Given the description of an element on the screen output the (x, y) to click on. 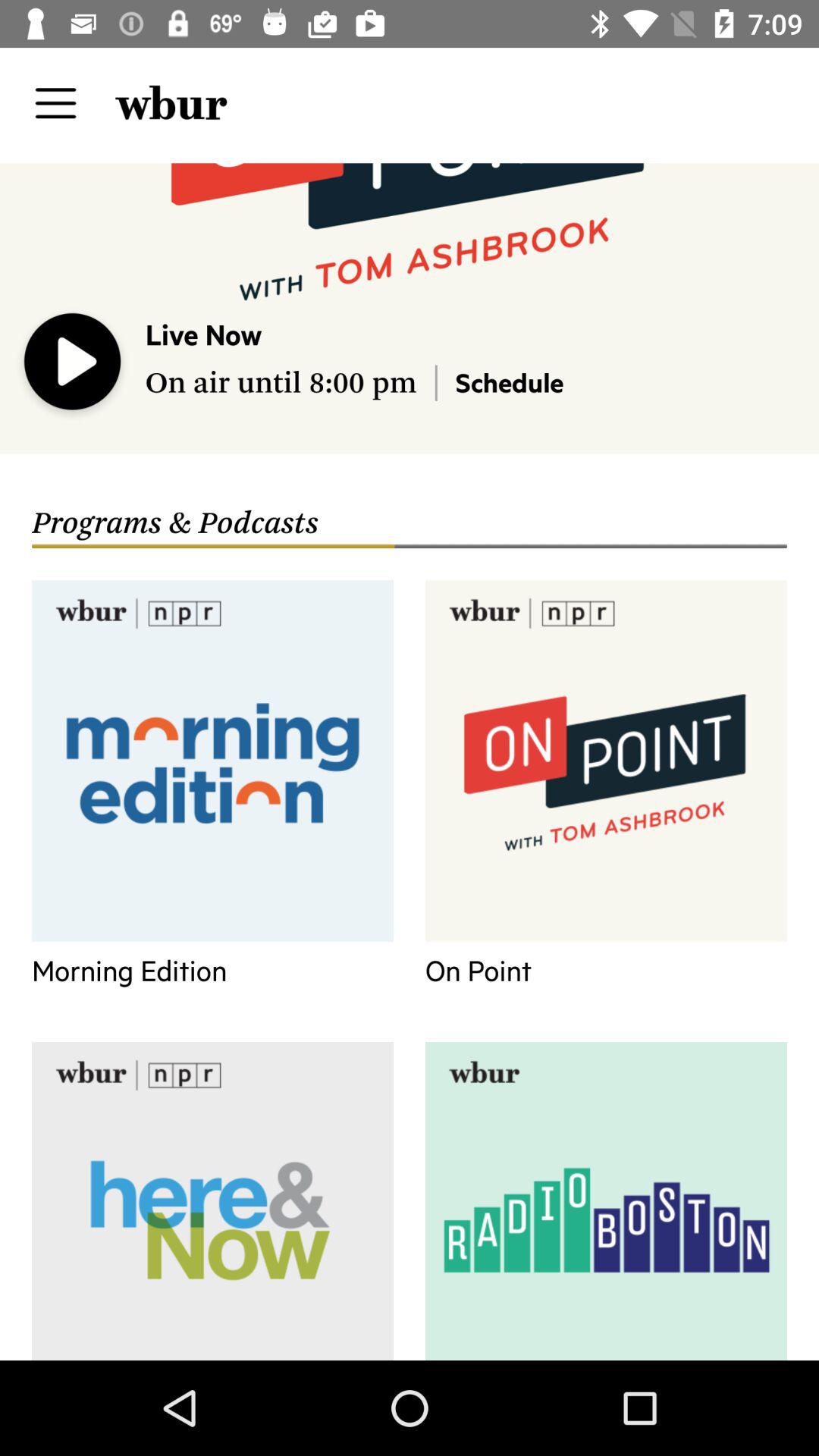
launch the icon above the programs & podcasts (72, 365)
